Given the description of an element on the screen output the (x, y) to click on. 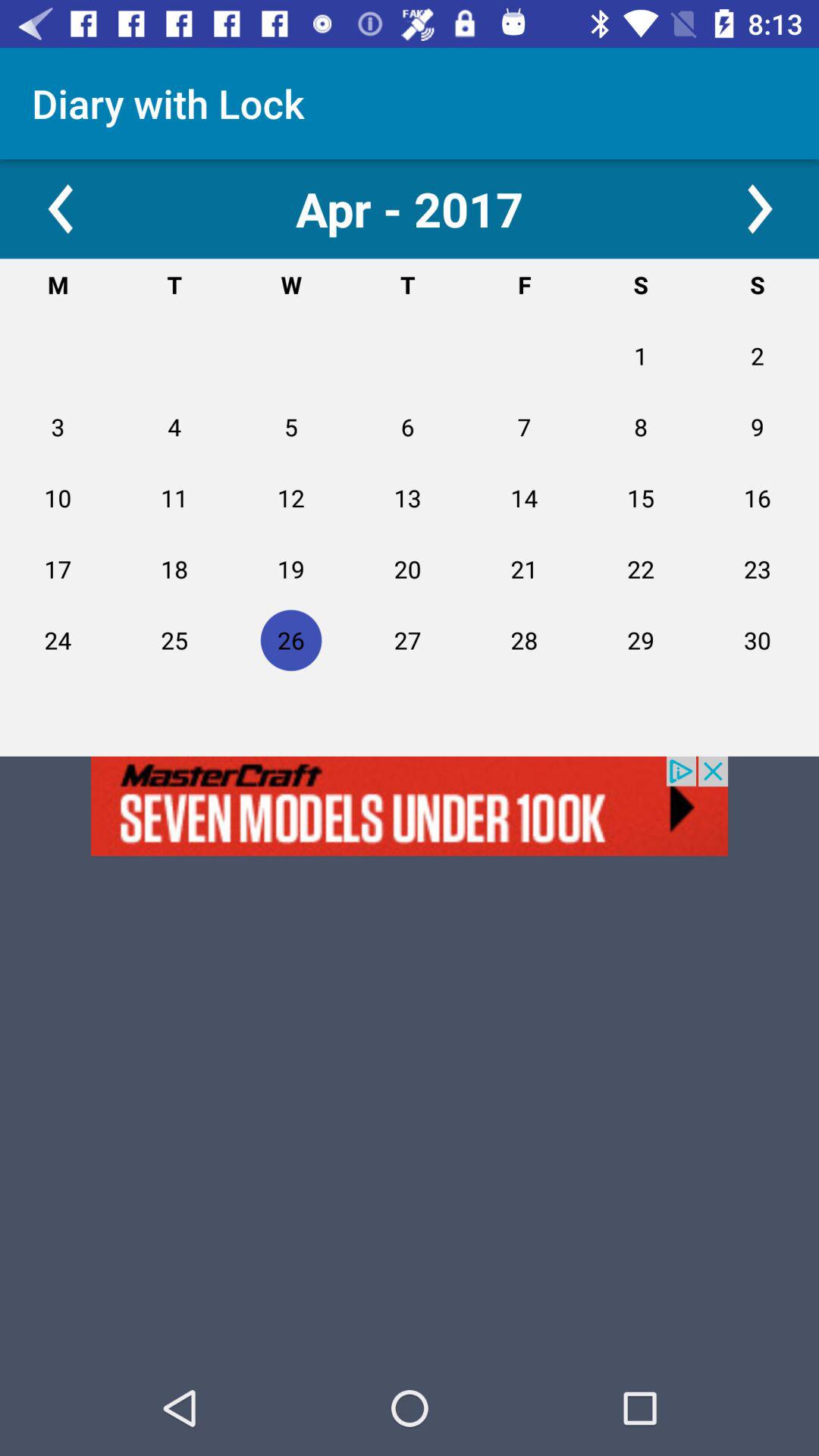
go back a month (59, 208)
